Given the description of an element on the screen output the (x, y) to click on. 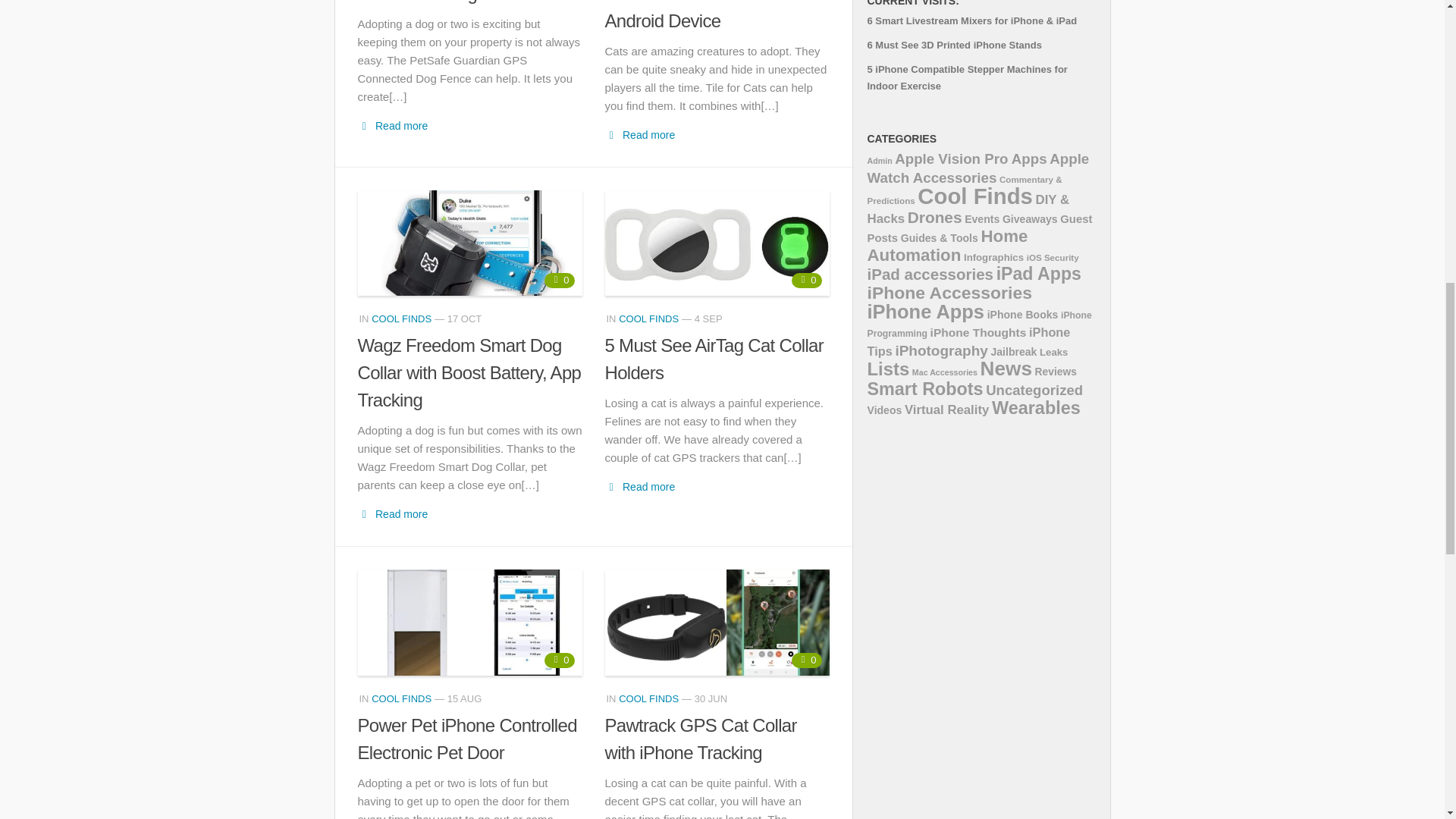
5 Must See AirTag Cat Collar Holders (717, 242)
5 Must See AirTag Cat Collar Holders (714, 358)
Power Pet iPhone Controlled Electronic Pet Door (470, 621)
Power Pet iPhone Controlled Electronic Pet Door (467, 738)
PetSafe Guardian GPS iOS Connected Dog Fence (463, 2)
